Given the description of an element on the screen output the (x, y) to click on. 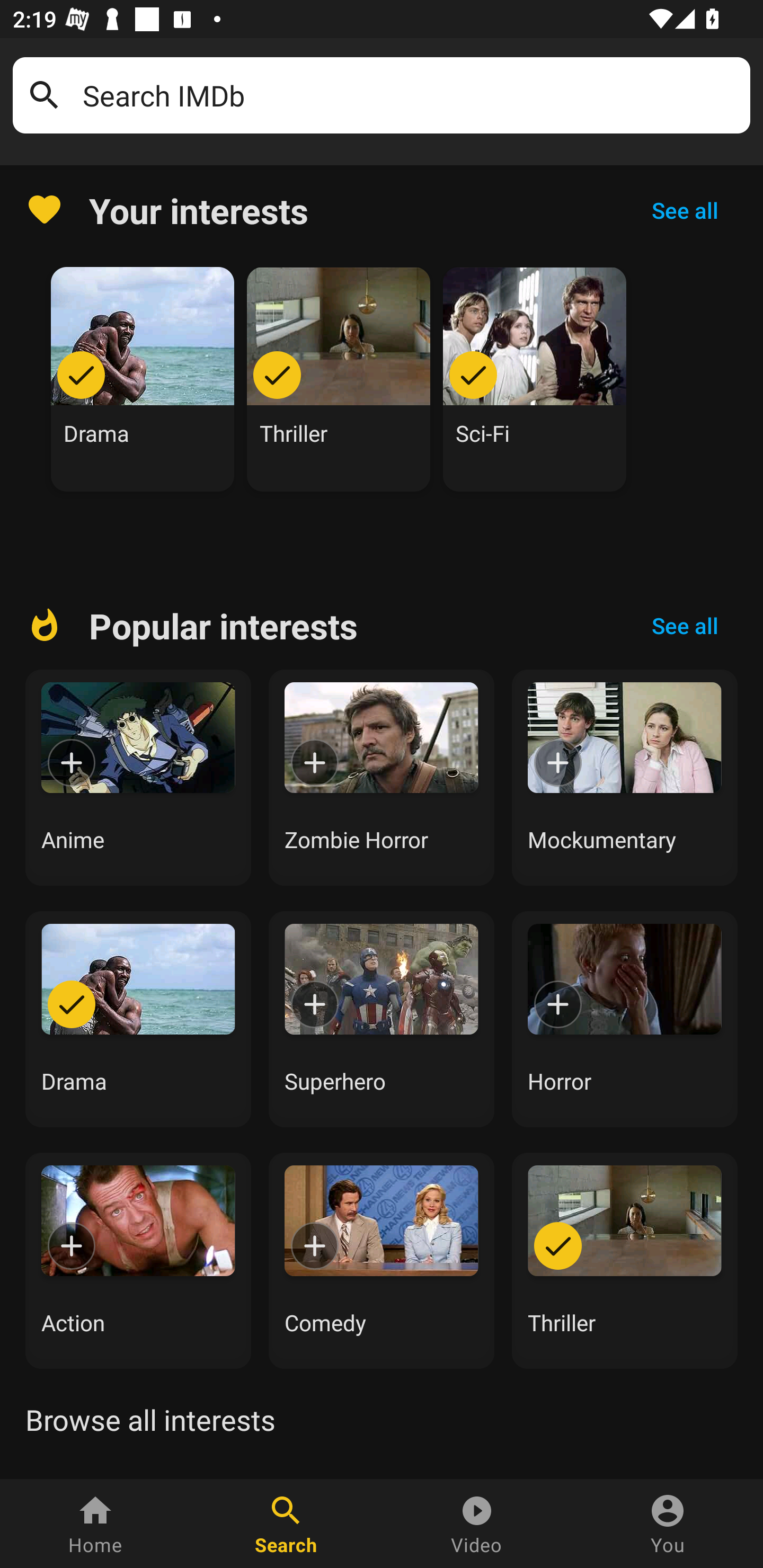
Search IMDb (410, 95)
See all (684, 209)
Drama (142, 379)
Thriller (338, 379)
Sci-Fi (534, 379)
See all (684, 625)
Anime (138, 777)
Zombie Horror (381, 777)
Mockumentary (624, 777)
Drama (138, 1018)
Superhero (381, 1018)
Horror (624, 1018)
